Given the description of an element on the screen output the (x, y) to click on. 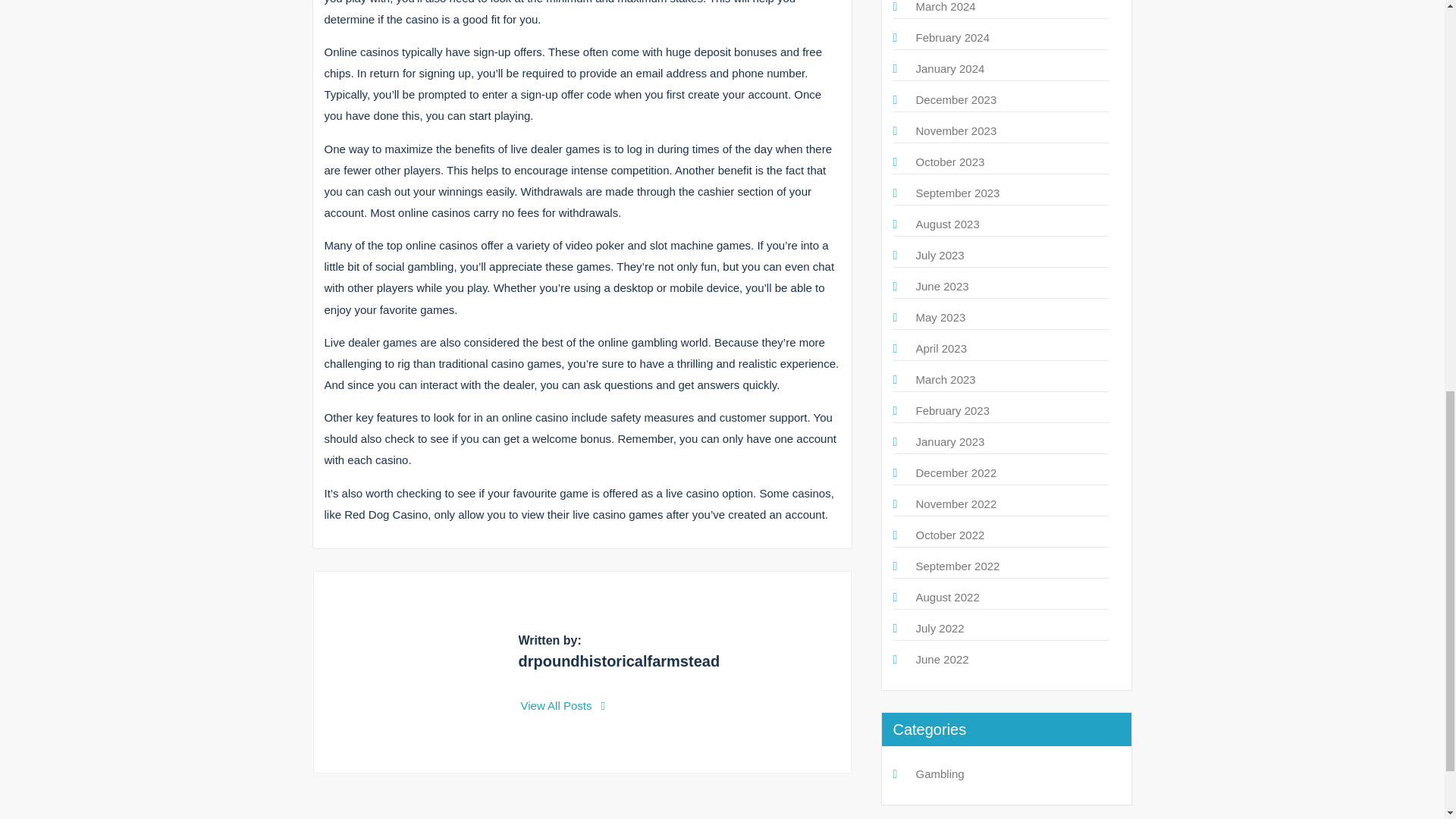
January 2024 (950, 68)
November 2023 (956, 130)
December 2023 (956, 99)
September 2022 (957, 565)
June 2022 (942, 658)
Gambling (939, 773)
February 2023 (952, 410)
August 2022 (947, 596)
February 2024 (952, 37)
October 2022 (950, 534)
